Given the description of an element on the screen output the (x, y) to click on. 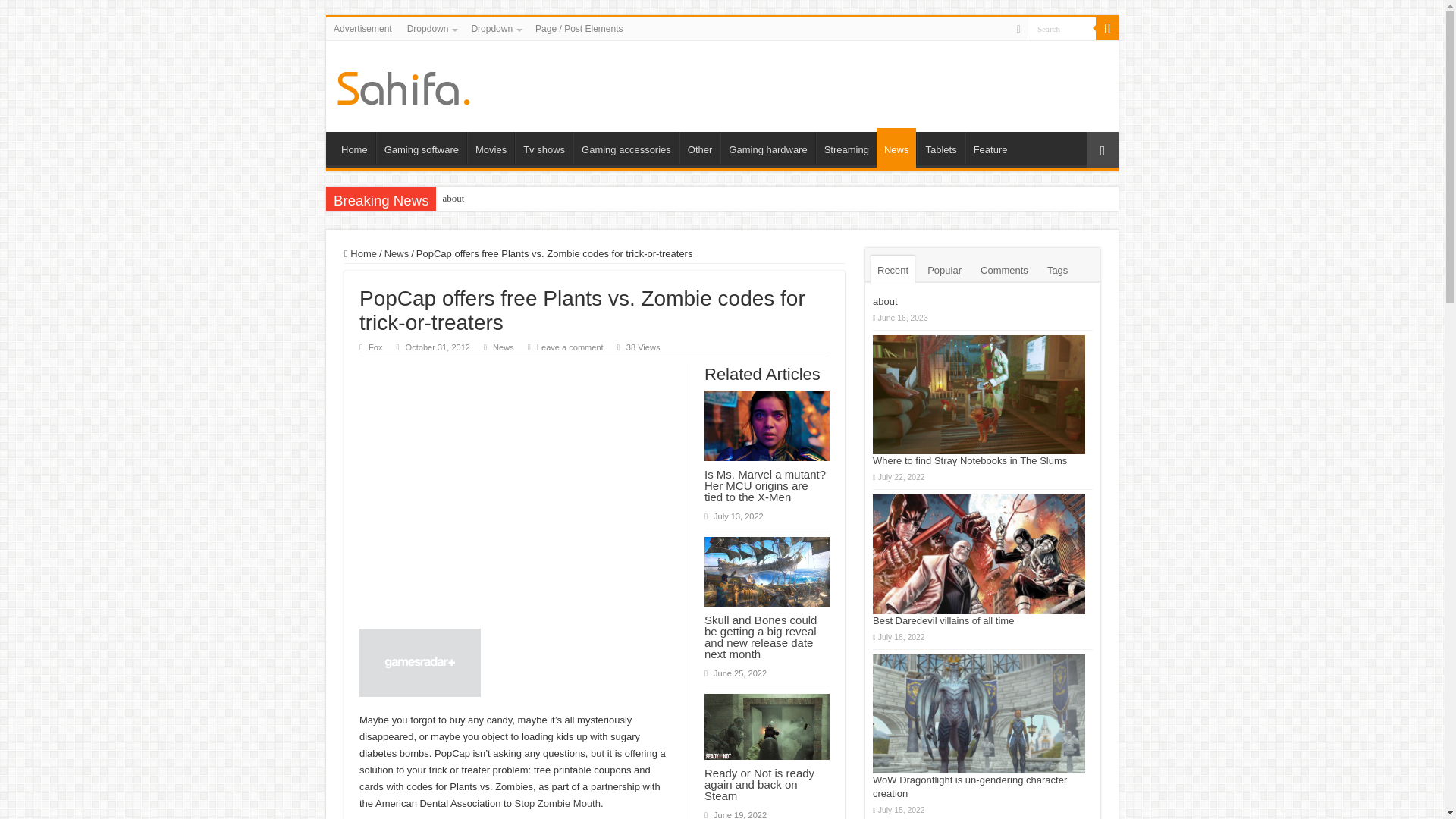
Search (1061, 28)
Gaming accessories (625, 147)
News (896, 147)
Tv shows (543, 147)
Streaming (845, 147)
Movies (490, 147)
Search (1107, 28)
Gaming software (420, 147)
Advertisement (362, 28)
Search (1061, 28)
Dropdown (495, 28)
Search (1061, 28)
Other (699, 147)
about (452, 198)
Gaming hardware (766, 147)
